Given the description of an element on the screen output the (x, y) to click on. 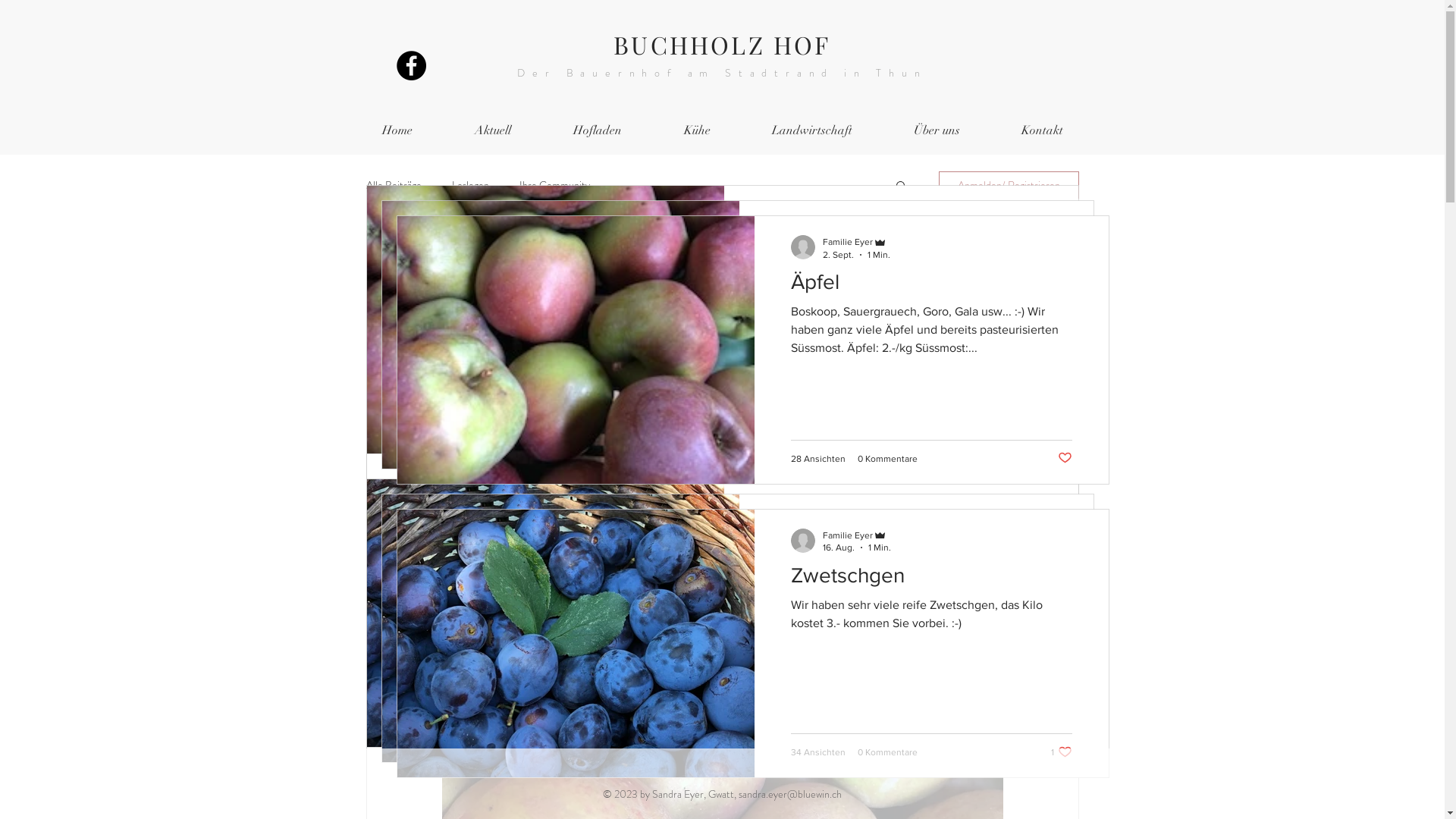
Zwetschgen Element type: text (900, 548)
sandra.eyer@bluewin.ch Element type: text (789, 793)
0 Kommentare Element type: text (871, 736)
BUCHHOLZ HOF Element type: text (721, 44)
0 Kommentare Element type: text (886, 751)
Kontakt Element type: text (1041, 130)
Anmelden/ Registrieren Element type: text (1008, 184)
Zwetschgen Element type: text (930, 579)
Zwetschgen Element type: text (915, 563)
0 Kommentare Element type: text (886, 458)
0 Kommentare Element type: text (856, 428)
0 Kommentare Element type: text (856, 720)
Landwirtschaft Element type: text (812, 130)
Aktuell Element type: text (491, 130)
0 Kommentare Element type: text (871, 443)
Ihre Community Element type: text (553, 184)
Home Element type: text (396, 130)
Hofladen Element type: text (596, 130)
Der Bauernhof am Stadtrand in Thun Element type: text (721, 72)
Loslegen Element type: text (470, 184)
